Given the description of an element on the screen output the (x, y) to click on. 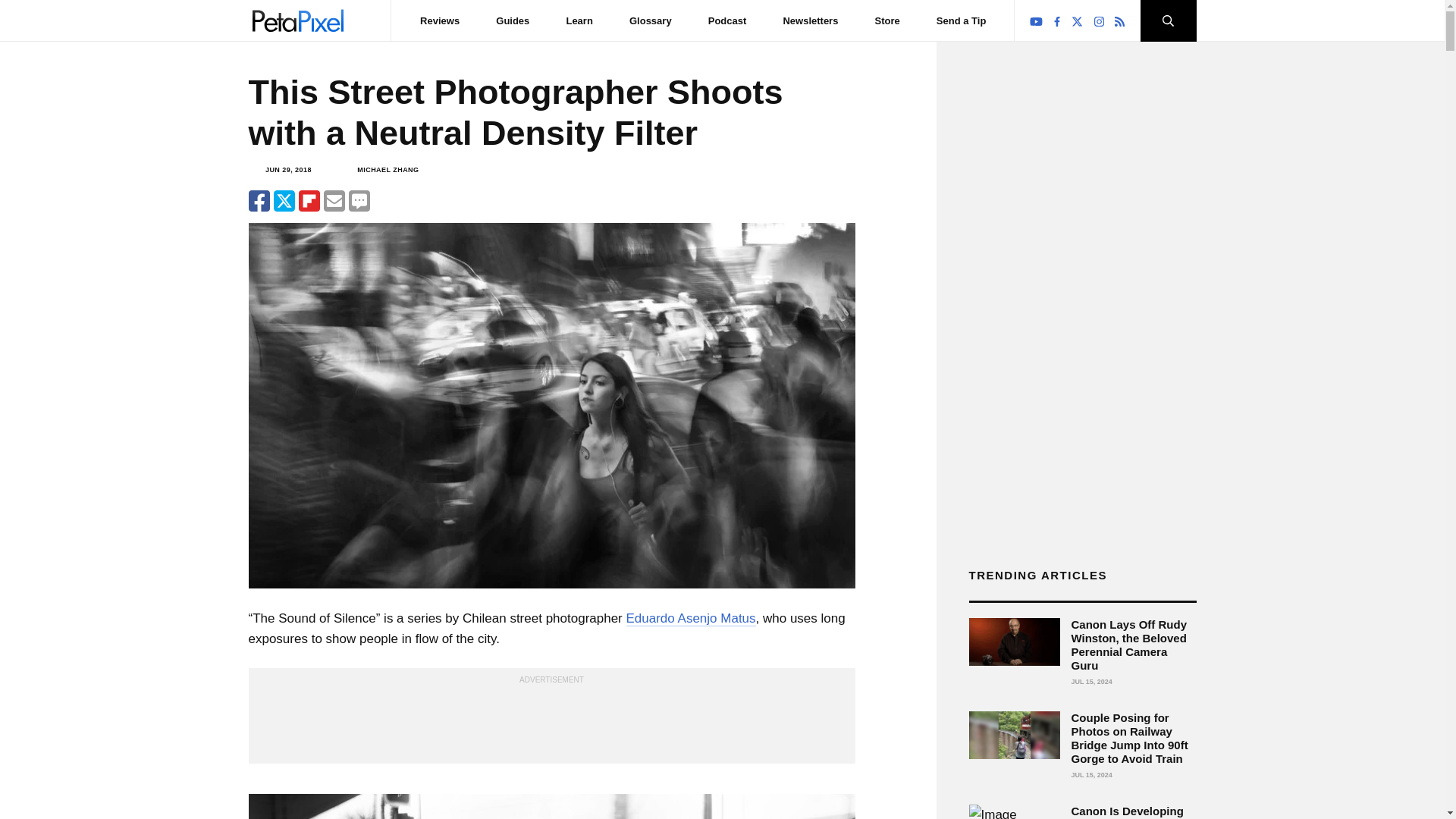
Podcast (726, 20)
Follow PetaPixel on X (1077, 21)
Share on X (283, 200)
Eduardo Asenjo Matus (690, 618)
Store (887, 20)
Reviews (440, 20)
Comments (359, 200)
Learn (579, 20)
PetaPixel (296, 20)
Follow PetaPixel on YouTube (1035, 21)
Share on Flipboard (309, 200)
Newsletters (810, 20)
MICHAEL ZHANG (387, 169)
Guides (512, 20)
PetaPixel (296, 20)
